Given the description of an element on the screen output the (x, y) to click on. 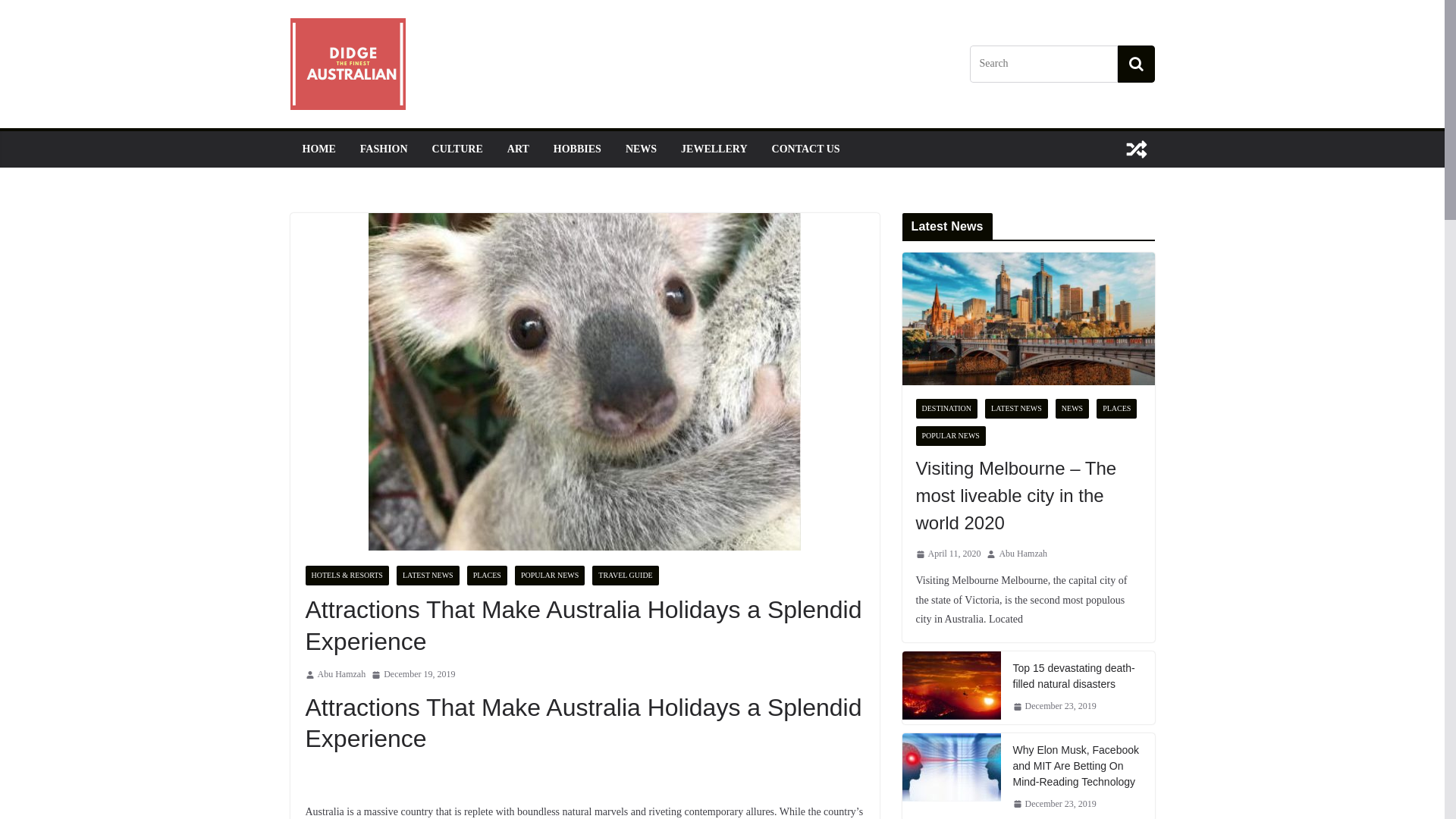
Top 15 devastating death-filled natural disasters Element type: hover (951, 685)
Top 15 devastating death-filled natural disasters Element type: hover (951, 687)
December 23, 2019 Element type: text (1054, 804)
HOME Element type: text (318, 149)
HOTELS & RESORTS Element type: text (346, 575)
NEWS Element type: text (1071, 408)
Top 15 devastating death-filled natural disasters Element type: text (1077, 676)
FASHION Element type: text (383, 149)
Abu Hamzah Element type: text (1022, 554)
April 11, 2020 Element type: text (948, 554)
LATEST NEWS Element type: text (1016, 408)
View a random post Element type: hover (1135, 149)
POPULAR NEWS Element type: text (950, 435)
LATEST NEWS Element type: text (427, 575)
December 23, 2019 Element type: text (1054, 706)
NEWS Element type: text (640, 149)
ART Element type: text (518, 149)
TRAVEL GUIDE Element type: text (625, 575)
December 19, 2019 Element type: text (413, 674)
CONTACT US Element type: text (805, 149)
PLACES Element type: text (1116, 408)
PLACES Element type: text (487, 575)
Abu Hamzah Element type: text (340, 674)
CULTURE Element type: text (457, 149)
DESTINATION Element type: text (947, 408)
JEWELLERY Element type: text (713, 149)
HOBBIES Element type: text (577, 149)
POPULAR NEWS Element type: text (549, 575)
